Given the description of an element on the screen output the (x, y) to click on. 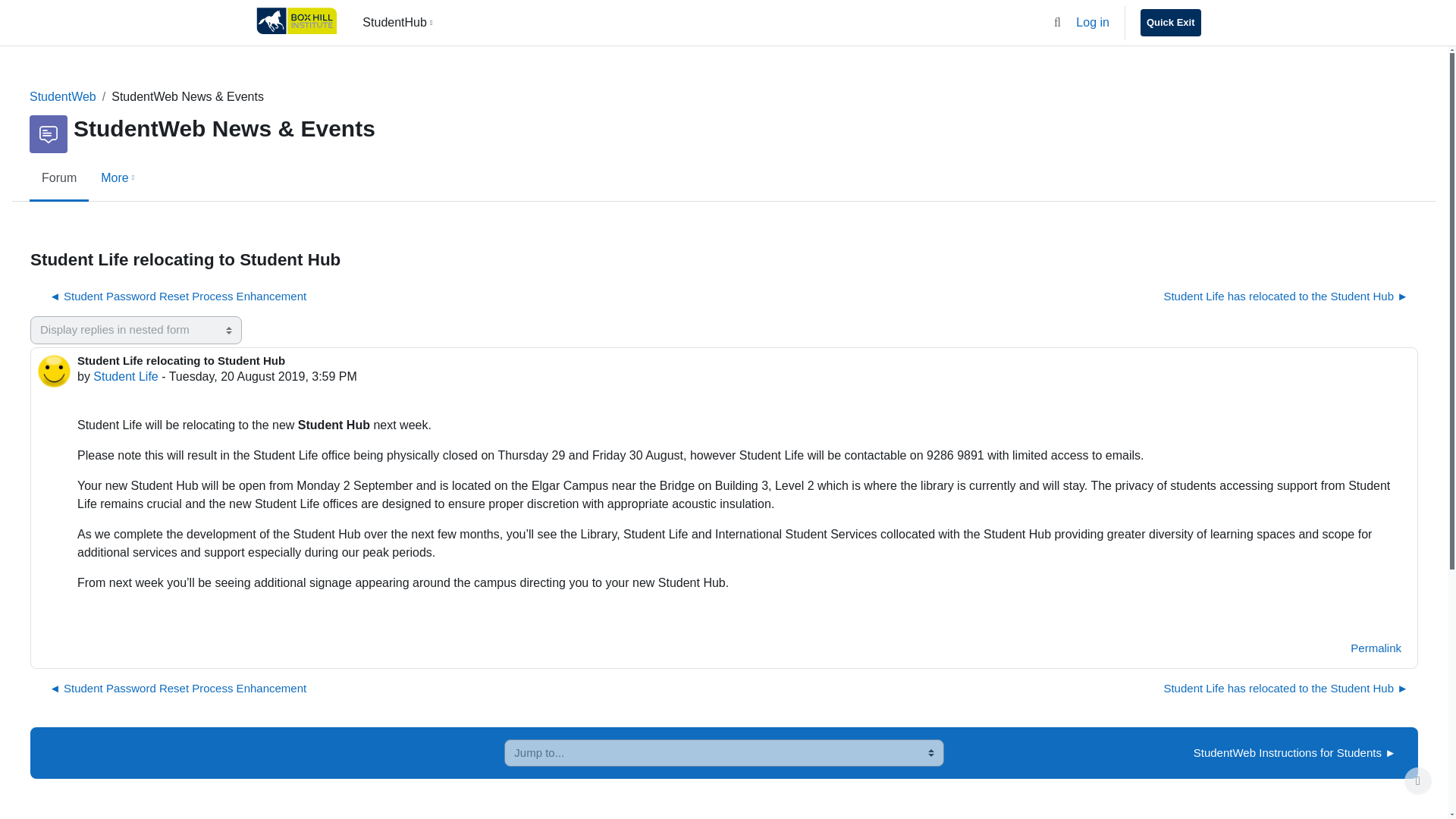
StudentHub (399, 22)
Toggle search input (1056, 22)
Permanent link to this post (1375, 648)
Forum (58, 178)
Picture of Student Life (54, 370)
Log in (1092, 22)
StudentWeb (62, 96)
More (118, 178)
Toggle search input (1056, 22)
StudentWeb (62, 96)
Quick Exit (1170, 22)
